Given the description of an element on the screen output the (x, y) to click on. 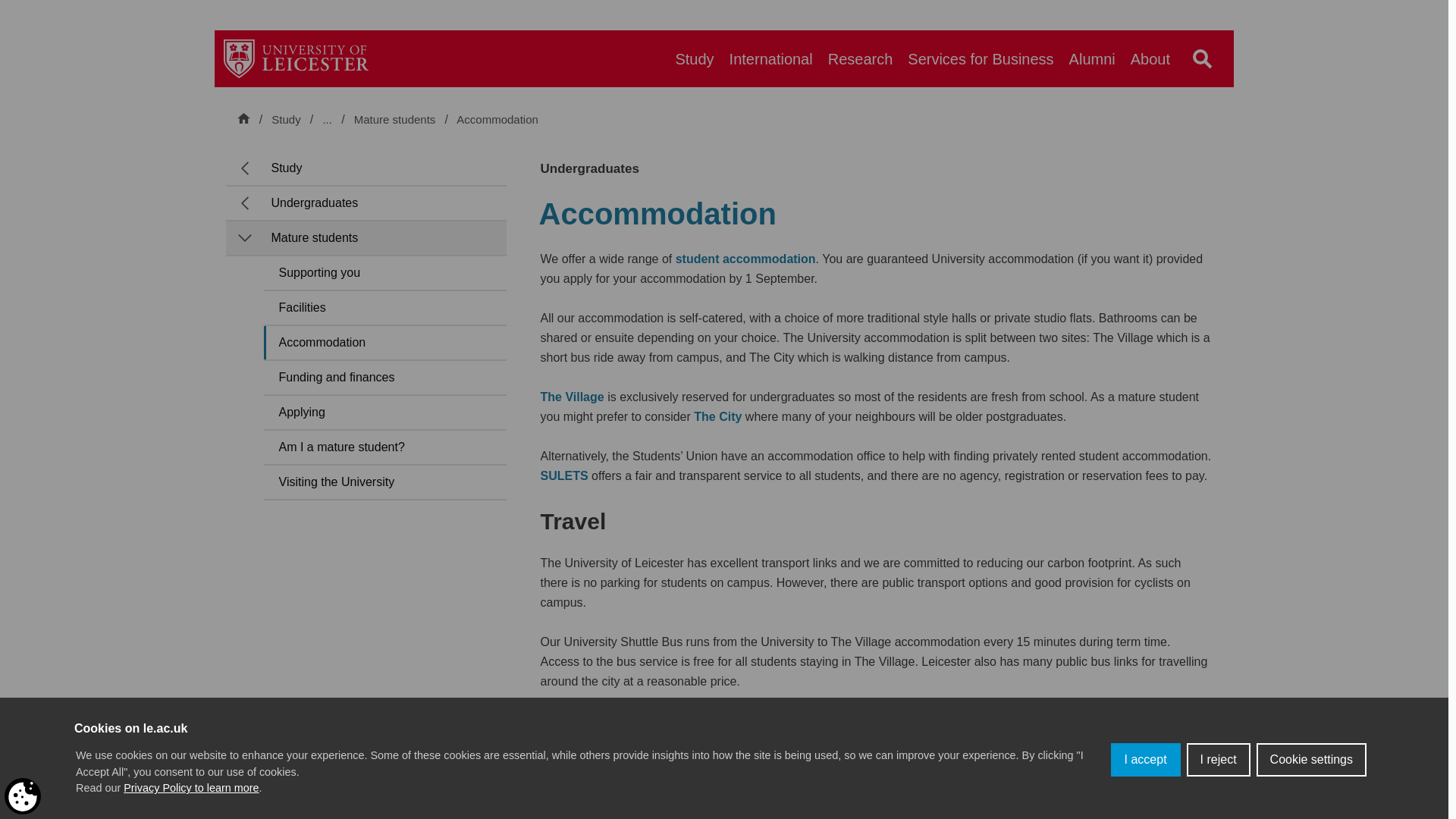
I accept (1145, 789)
Mature students (396, 119)
Study (284, 119)
I reject (1218, 779)
Undergraduates (394, 119)
Cookie settings (1311, 771)
Accommodation (497, 119)
Return to homepage (296, 58)
Study (693, 58)
